Given the description of an element on the screen output the (x, y) to click on. 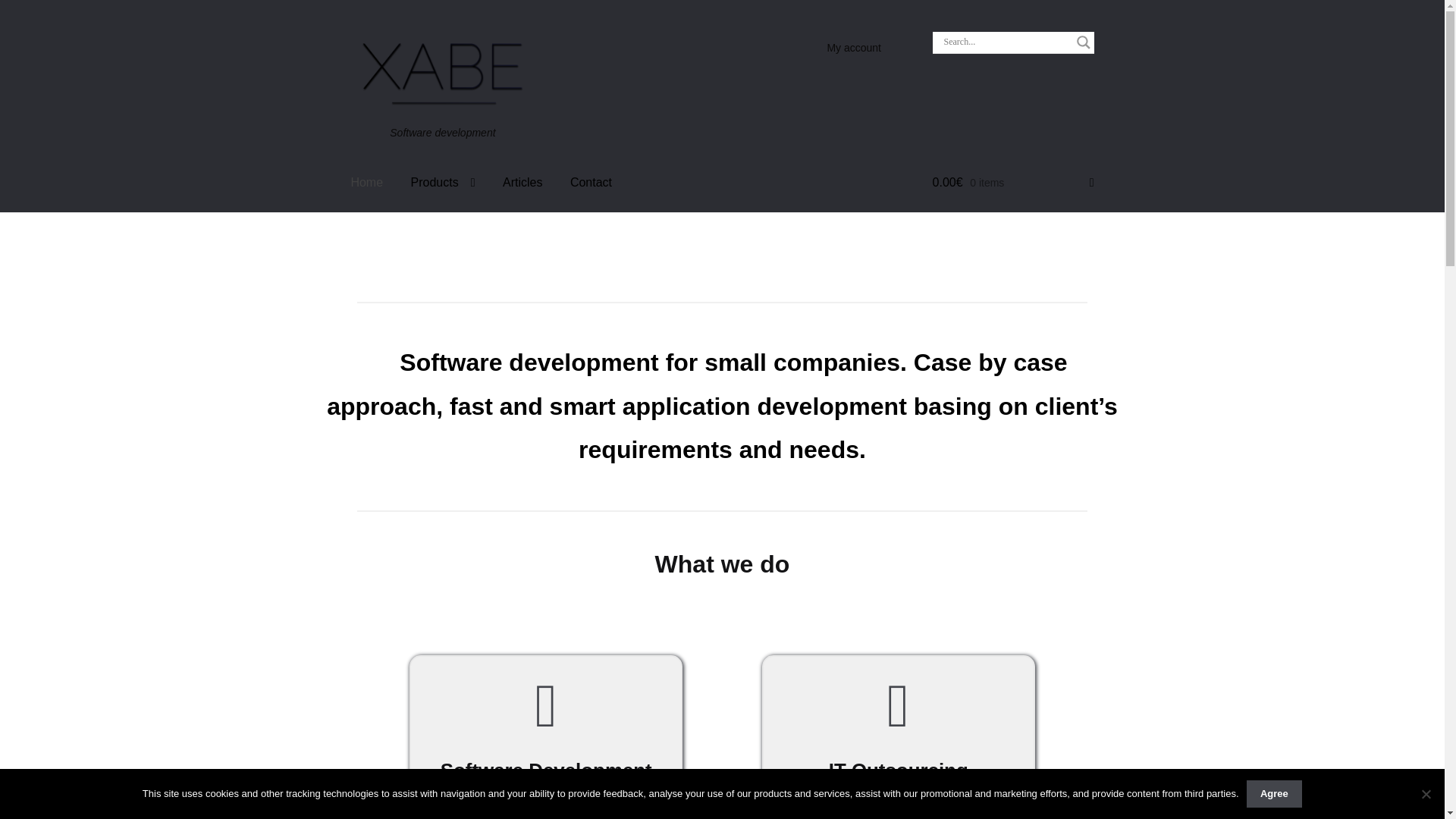
Articles (522, 182)
Xabe (441, 74)
No (1425, 793)
Home (365, 182)
Contact (590, 182)
Products (442, 182)
View your shopping cart (1013, 182)
My account (852, 47)
Agree (1274, 793)
